Given the description of an element on the screen output the (x, y) to click on. 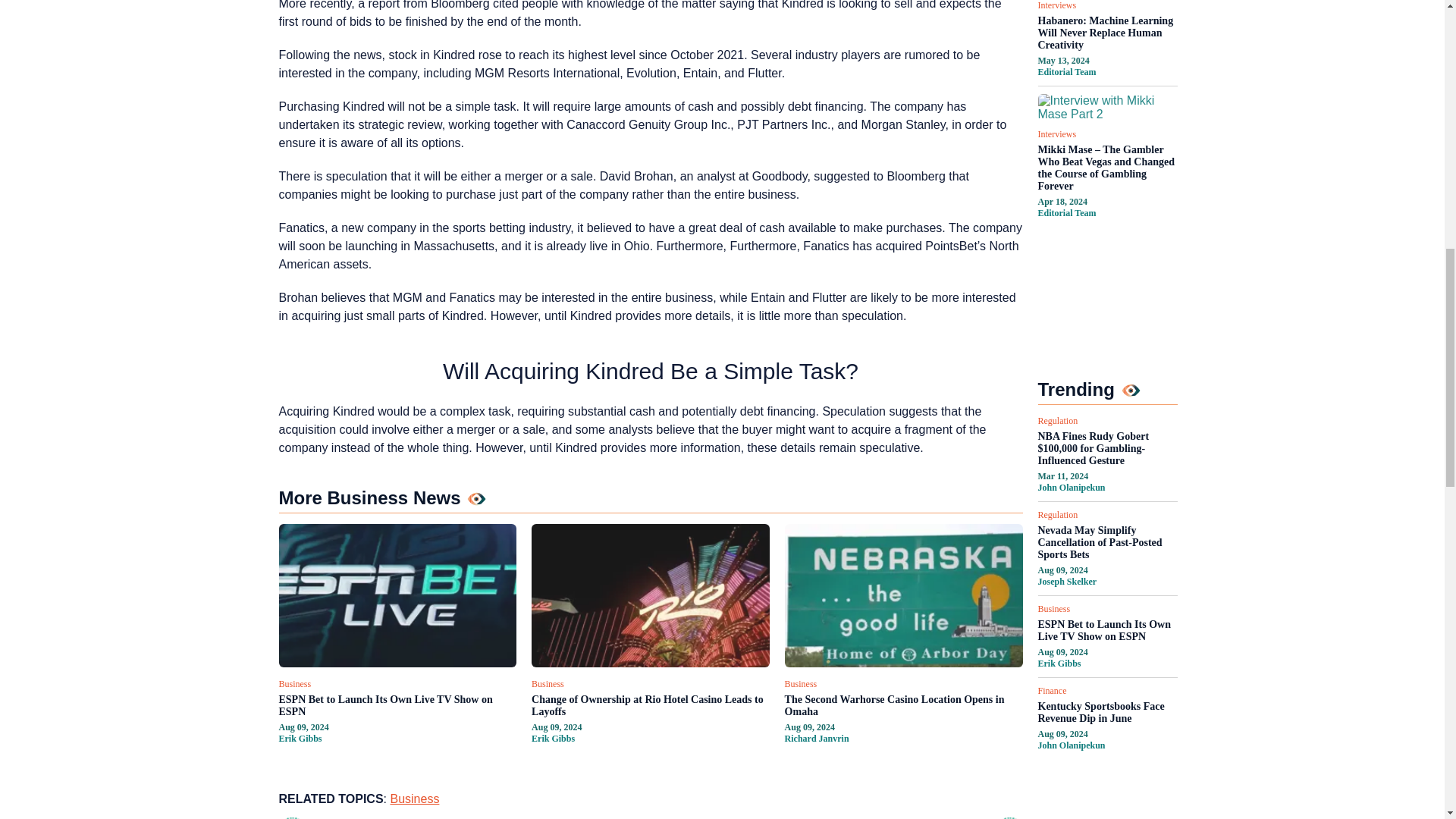
Erik Gibbs (553, 738)
ESPN Bet to Launch Its Own Live TV Show on ESPN (397, 705)
Change of Ownership at Rio Hotel Casino Leads to Layoffs (650, 705)
Erik Gibbs (300, 738)
